Given the description of an element on the screen output the (x, y) to click on. 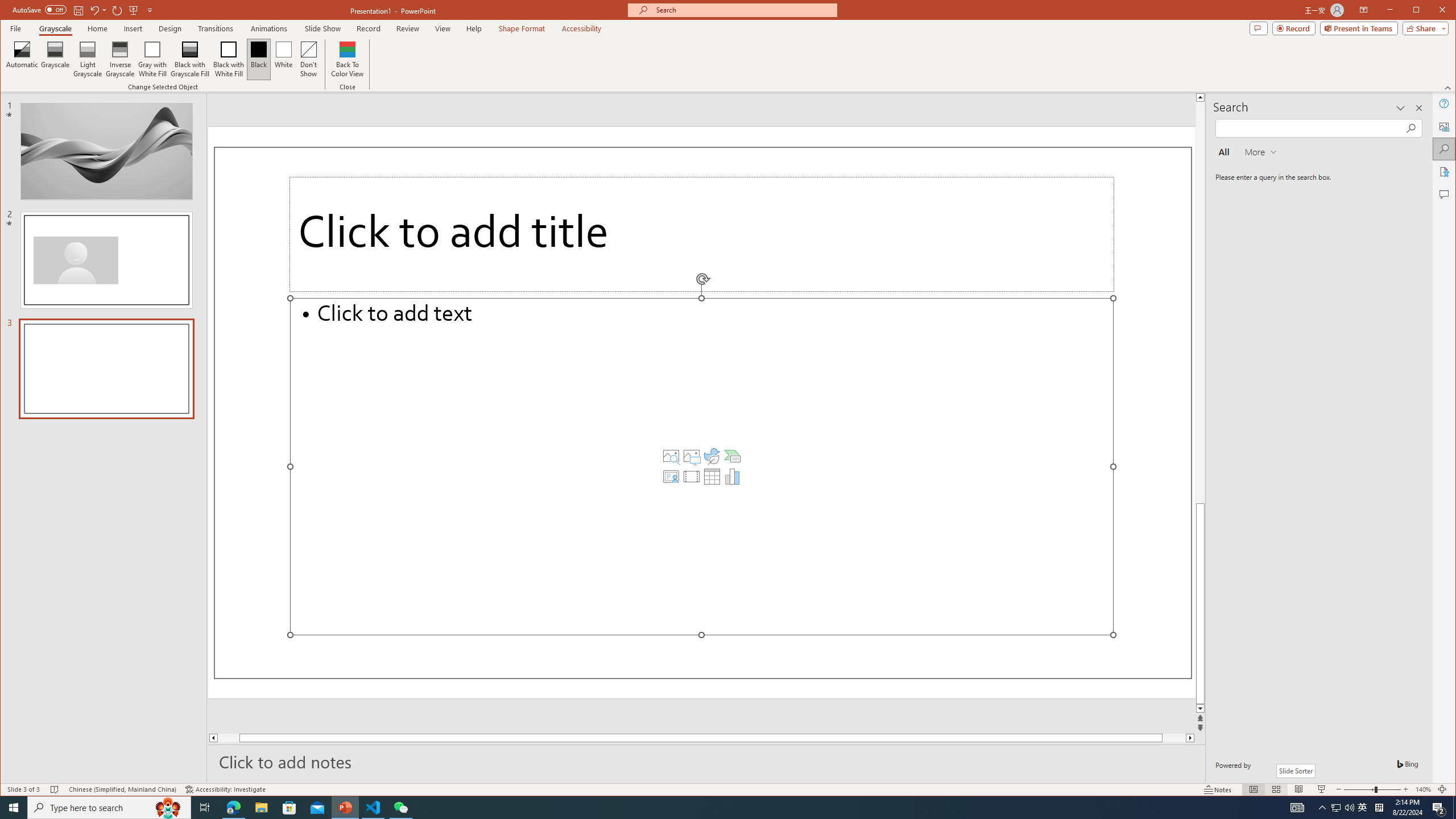
Black with Grayscale Fill (189, 59)
